Given the description of an element on the screen output the (x, y) to click on. 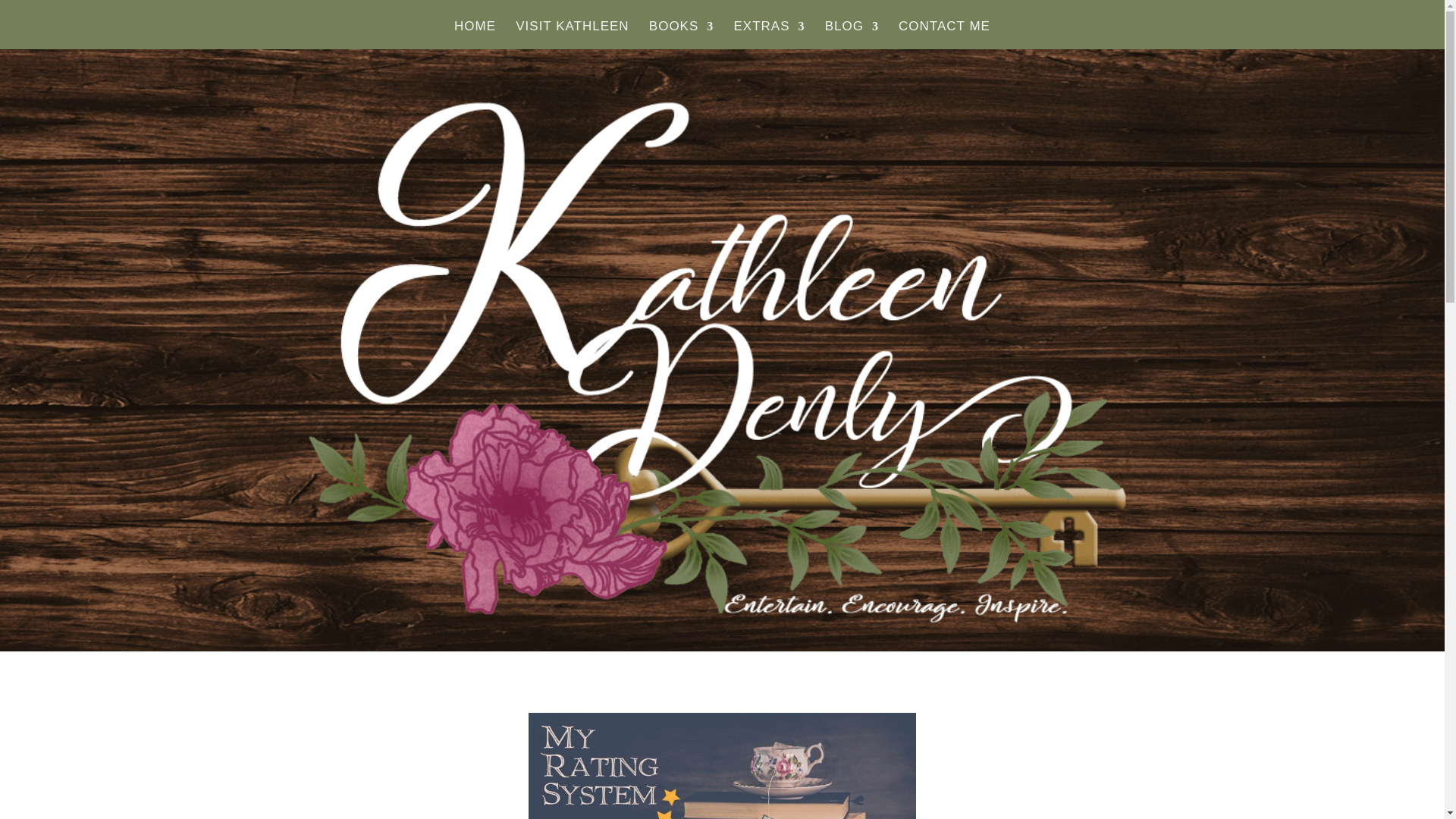
HOME (475, 35)
CONTACT ME (944, 35)
VISIT KATHLEEN (571, 35)
BLOG (852, 35)
BOOKS (681, 35)
EXTRAS (769, 35)
